Given the description of an element on the screen output the (x, y) to click on. 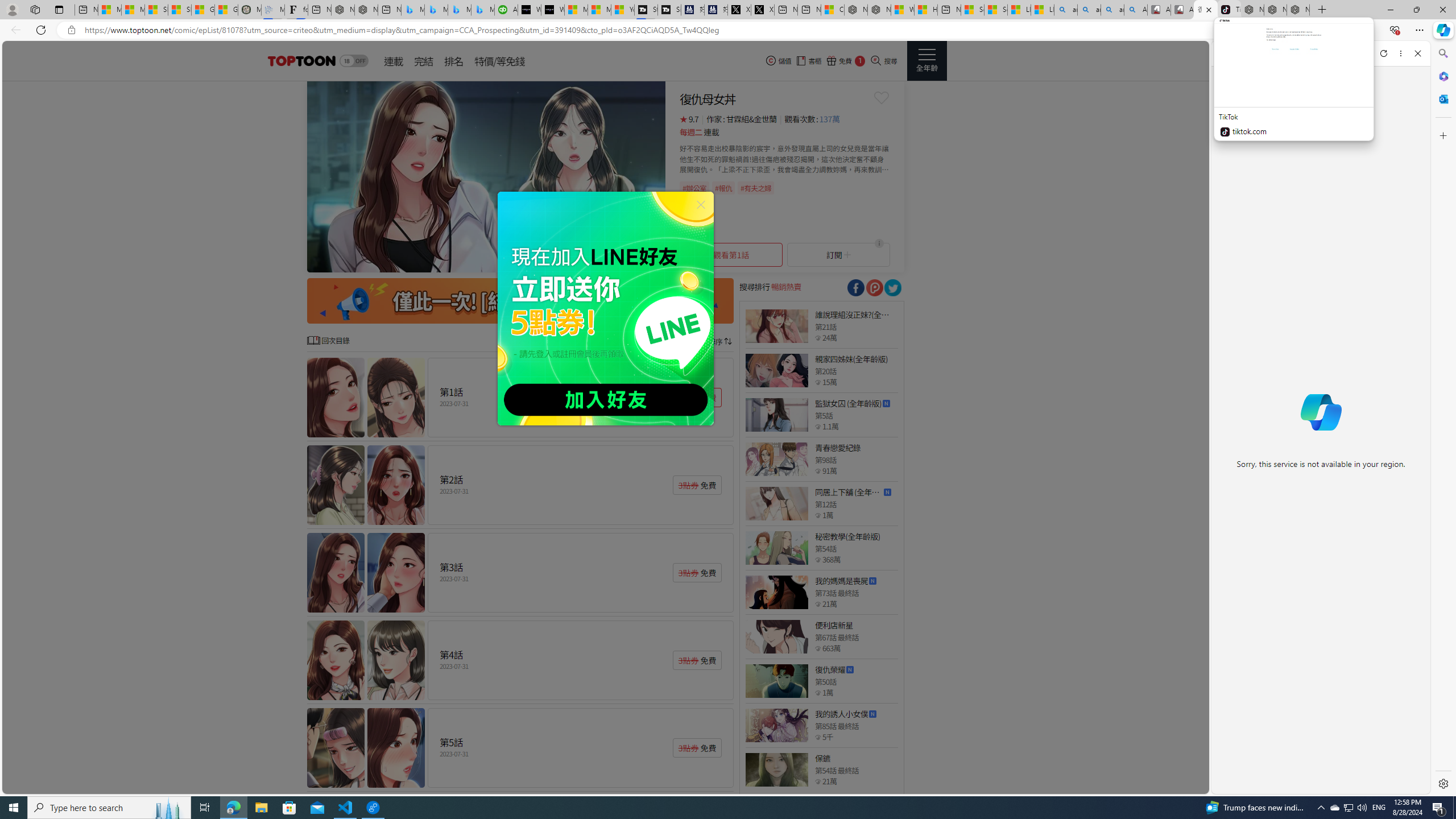
Nordace Siena Pro 15 Backpack (1275, 9)
Outlook (1442, 98)
amazon - Search Images (1112, 9)
